Given the description of an element on the screen output the (x, y) to click on. 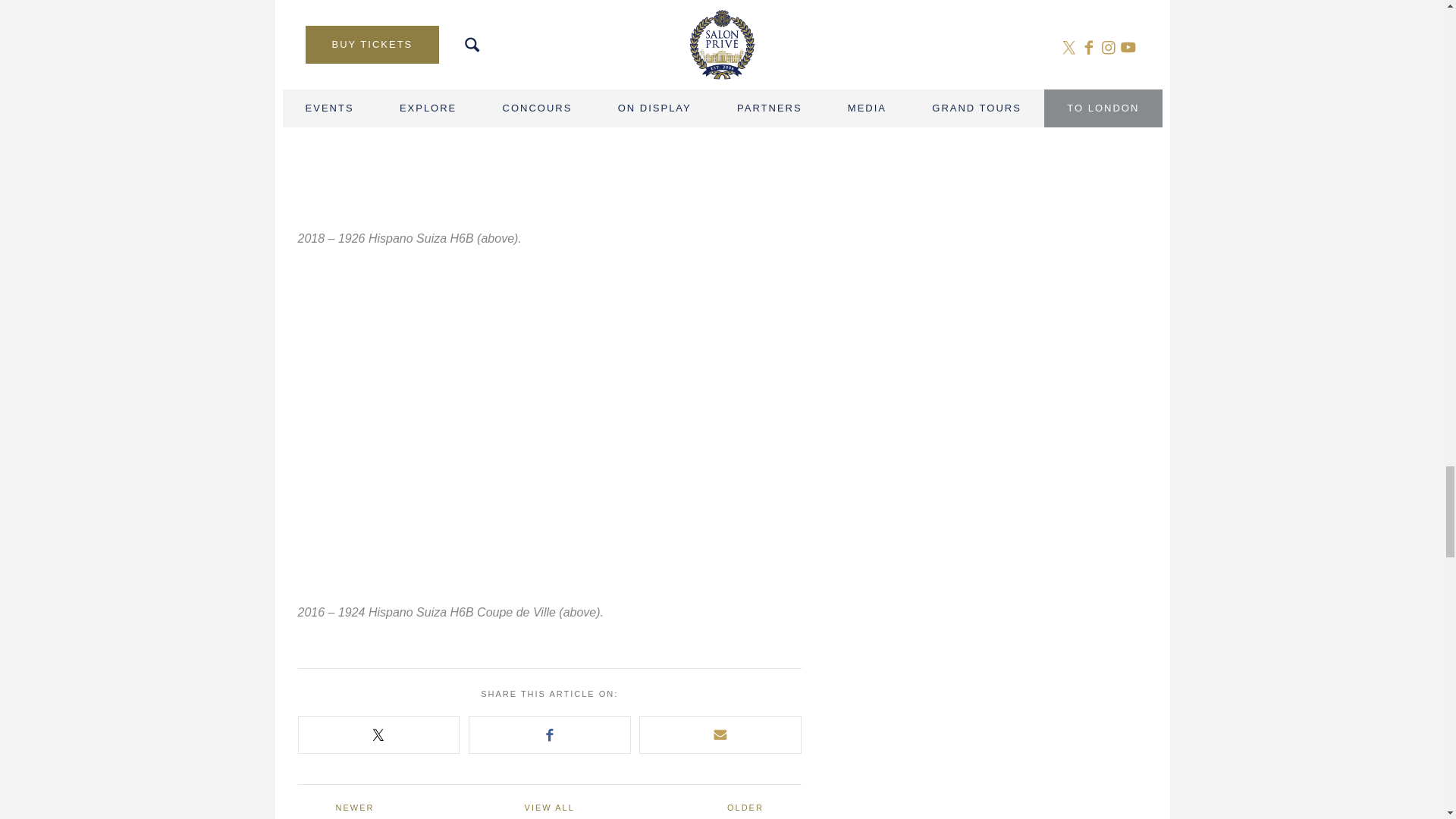
Share via Email (720, 734)
Share on Facebook (549, 734)
Share on X (379, 734)
